Given the description of an element on the screen output the (x, y) to click on. 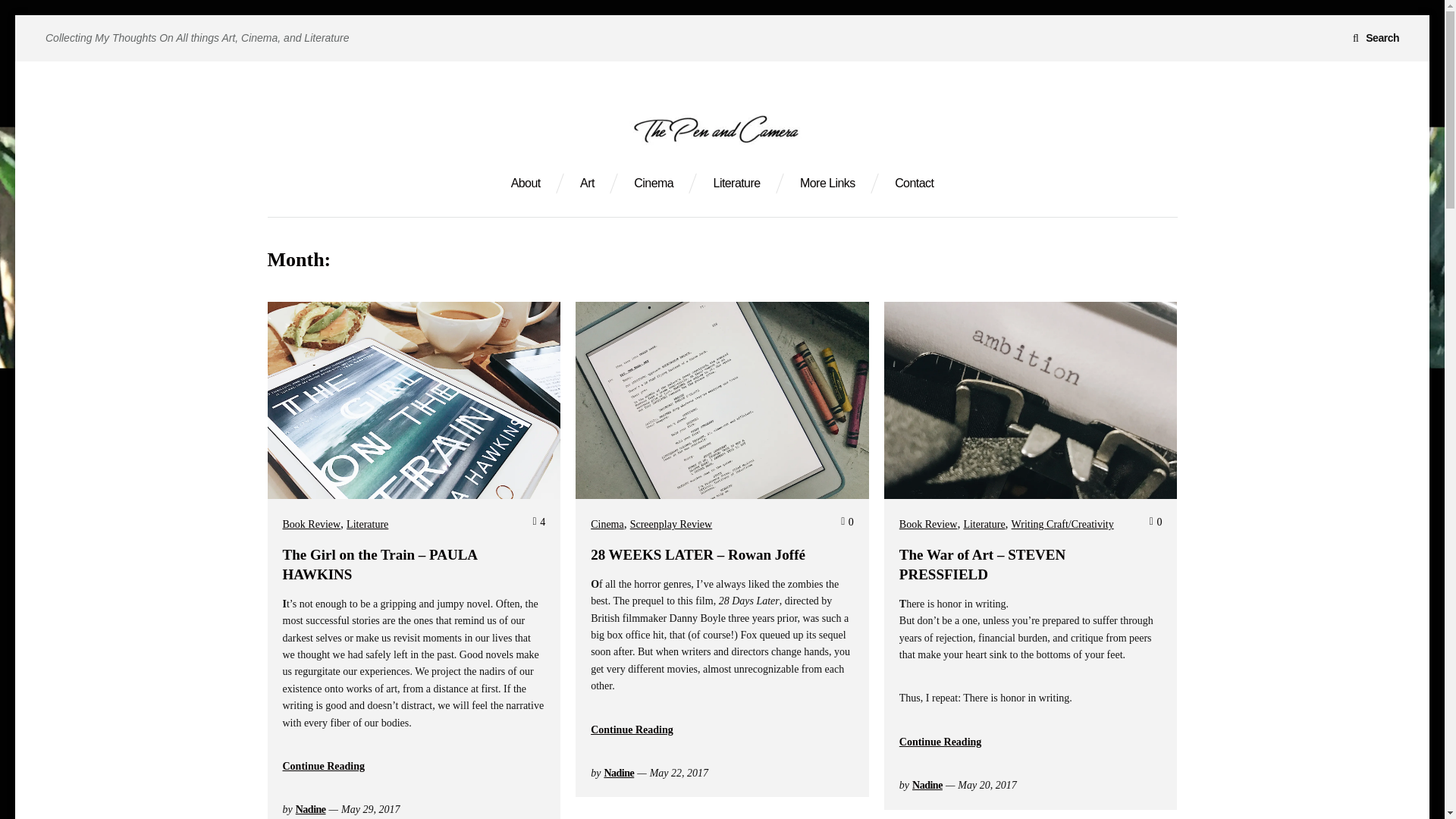
Literature (367, 524)
Nadine (618, 772)
Literature (983, 524)
More Links (827, 183)
Screenplay Review (670, 524)
Nadine (927, 785)
Contact (914, 183)
Art (586, 183)
Book Review (928, 524)
